Given the description of an element on the screen output the (x, y) to click on. 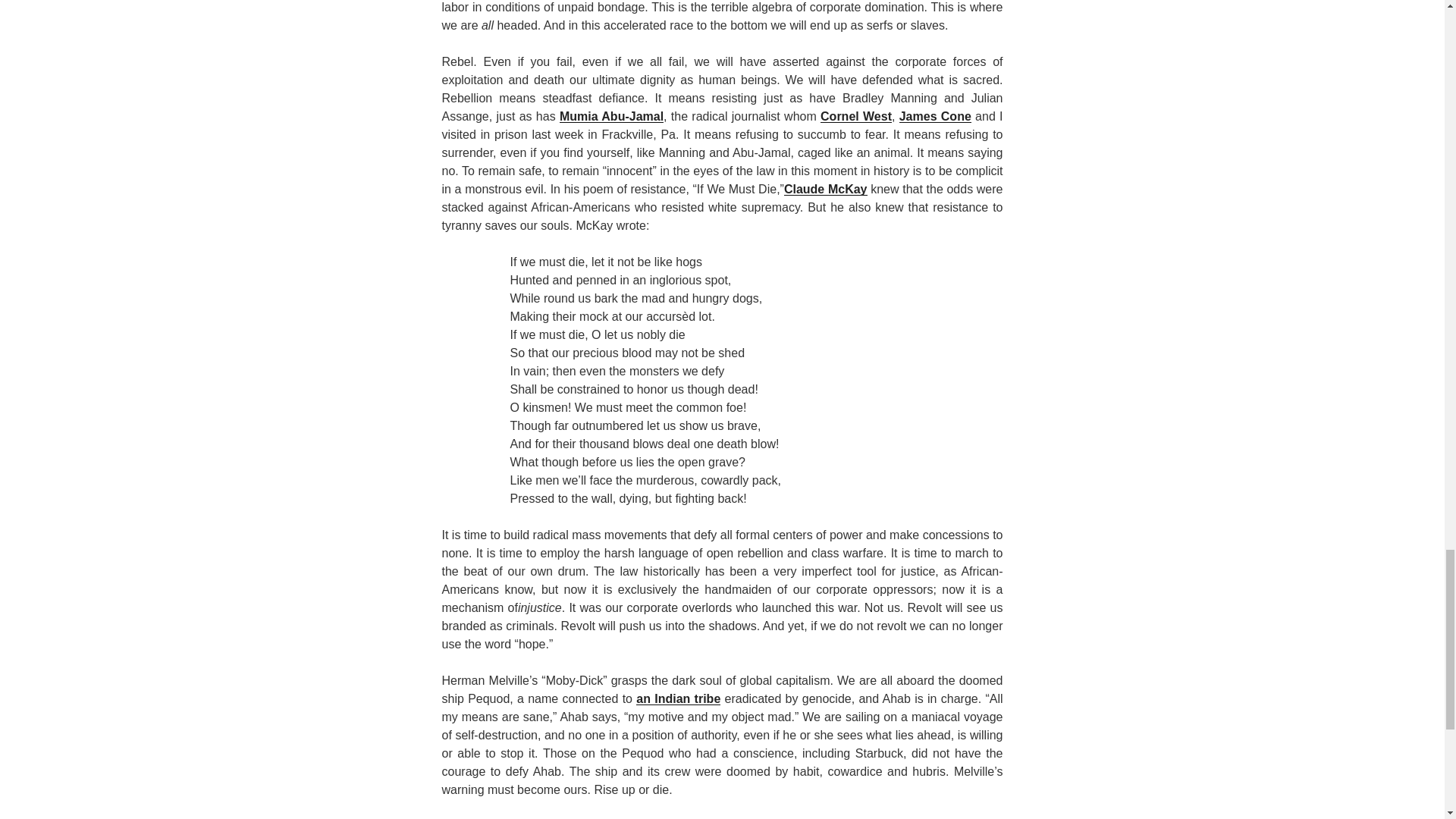
Cornel West (856, 115)
Mumia Abu-Jamal (611, 115)
Claude McKay (825, 188)
an Indian tribe (678, 698)
James Cone (935, 115)
